Given the description of an element on the screen output the (x, y) to click on. 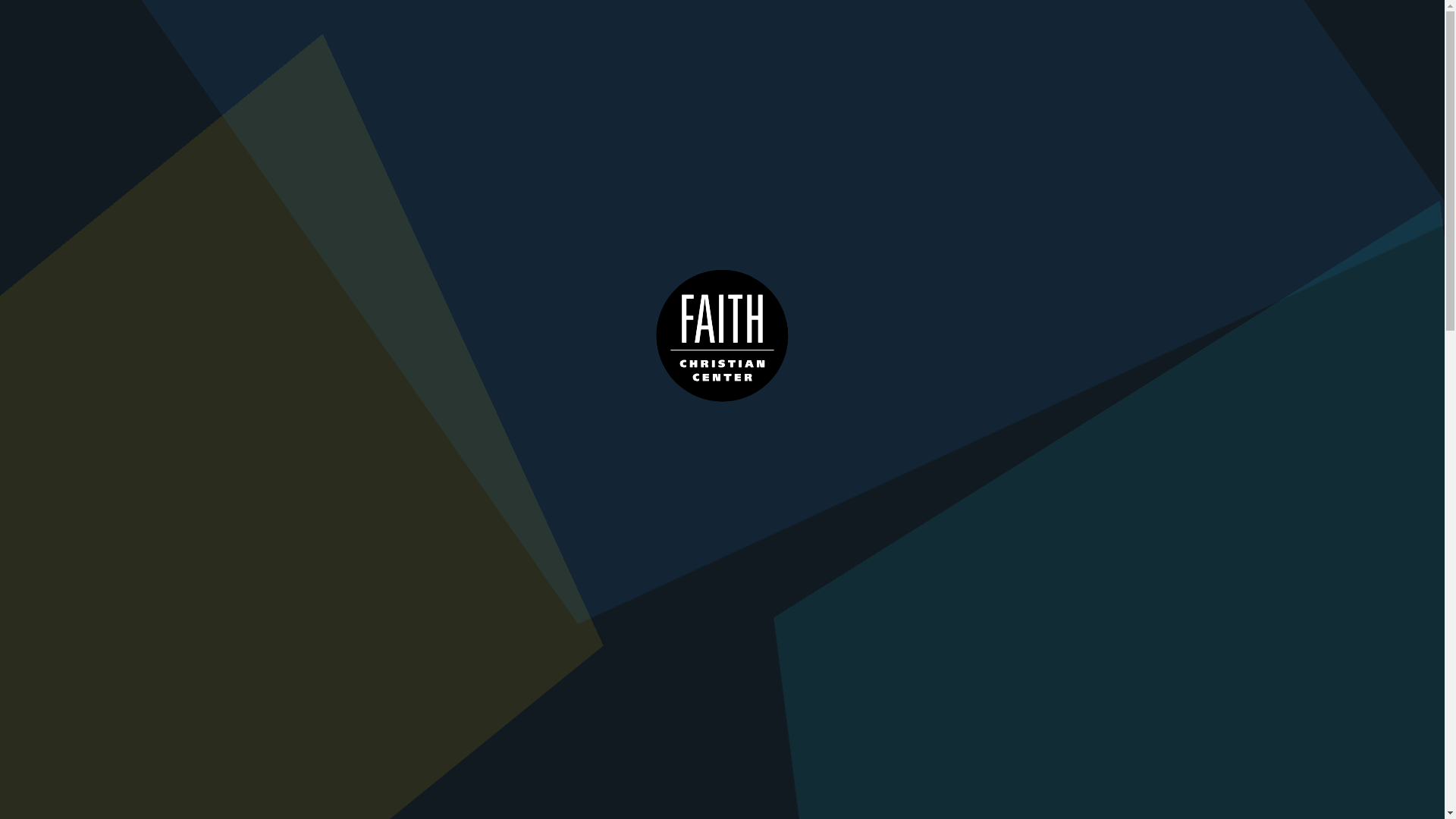
Give (1226, 16)
Contact (1314, 16)
GIVE (1226, 16)
Faith Christian Center (47, 36)
App (1159, 16)
PLAN YOUR VISIT (1281, 49)
Plan Your Visit (1281, 49)
APP (1159, 16)
CONTACT (1314, 16)
